Given the description of an element on the screen output the (x, y) to click on. 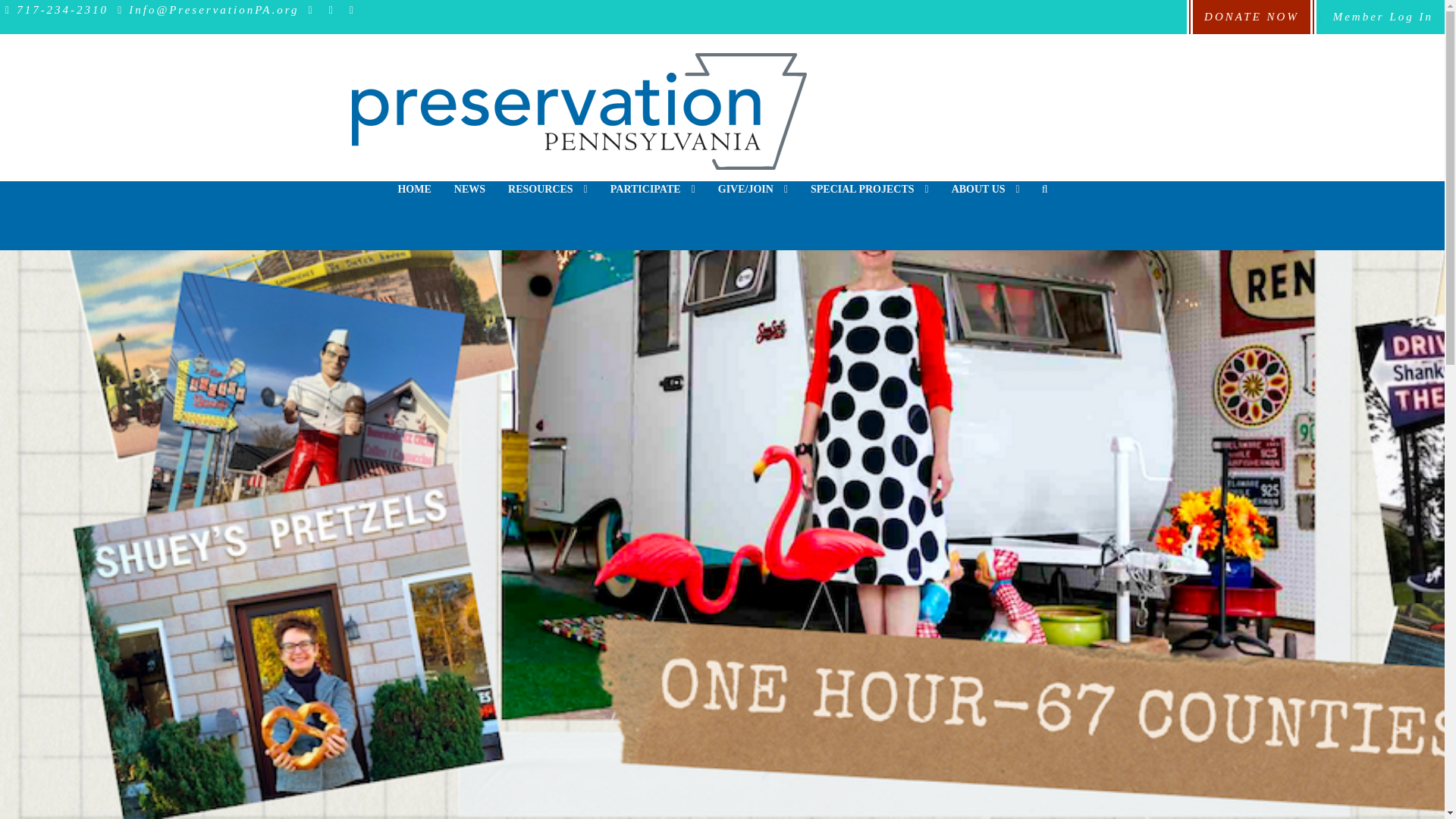
PARTICIPATE (652, 200)
RESOURCES (547, 200)
DONATE NOW (1251, 17)
SPECIAL PROJECTS (869, 200)
HOME (413, 200)
717-234-2310 (53, 9)
ABOUT US (985, 200)
NEWS (469, 200)
